Given the description of an element on the screen output the (x, y) to click on. 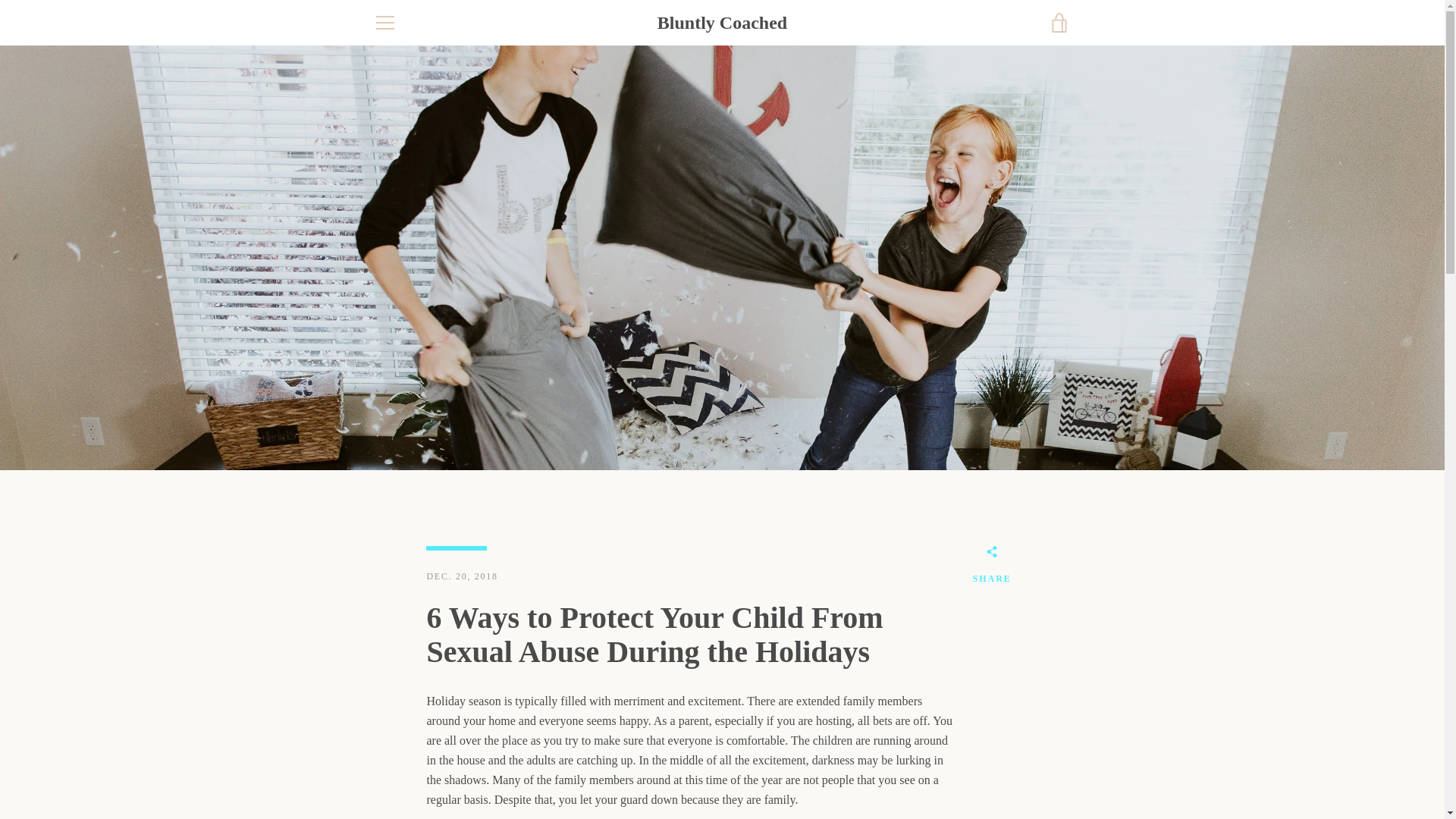
Instagram (398, 776)
JOIN (1034, 692)
Bluntly Coached on Facebook (372, 776)
Facebook (372, 776)
RESOURCES (403, 719)
JOIN (1034, 692)
Bluntly Coached (722, 23)
VIEW CART (1059, 22)
EXPAND NAVIGATION (384, 22)
SHARE (991, 567)
TERMS AND CONDITIONS (437, 675)
Bluntly Coached (759, 777)
Bluntly Coached on Instagram (398, 776)
PRIVACY POLICY (416, 697)
